Given the description of an element on the screen output the (x, y) to click on. 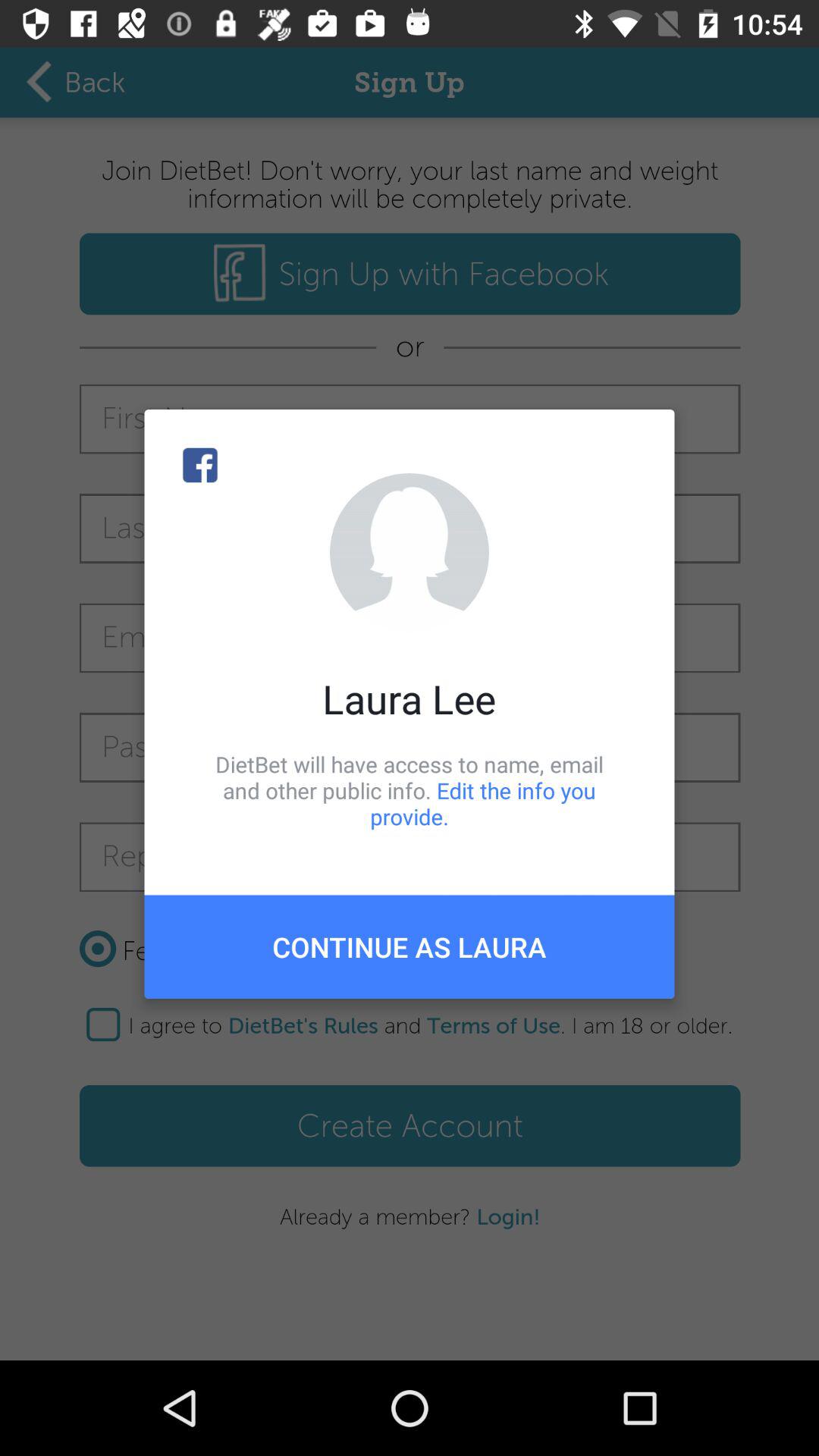
jump to continue as laura icon (409, 946)
